Given the description of an element on the screen output the (x, y) to click on. 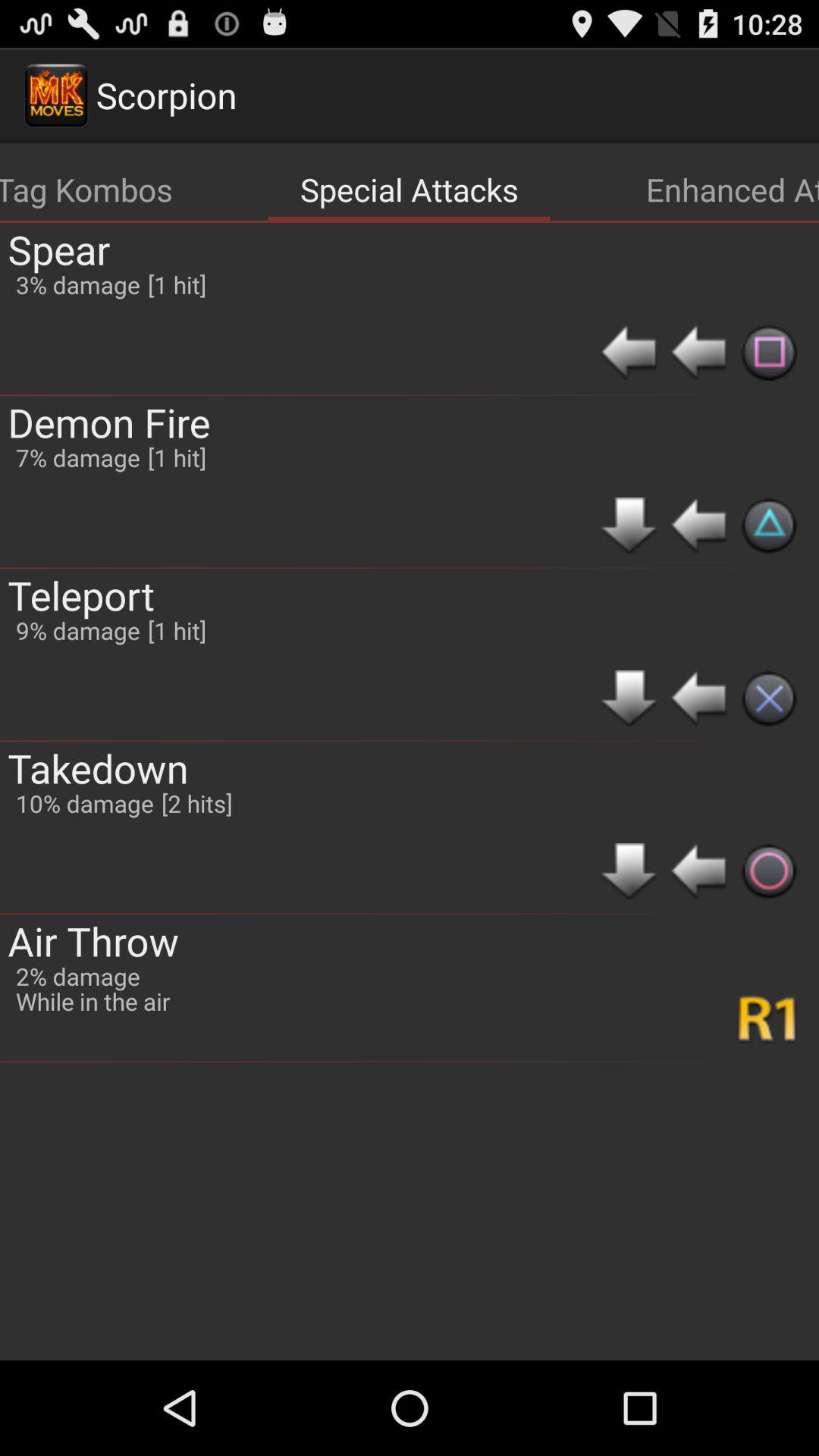
click icon below enhanced attacks app (768, 352)
